Given the description of an element on the screen output the (x, y) to click on. 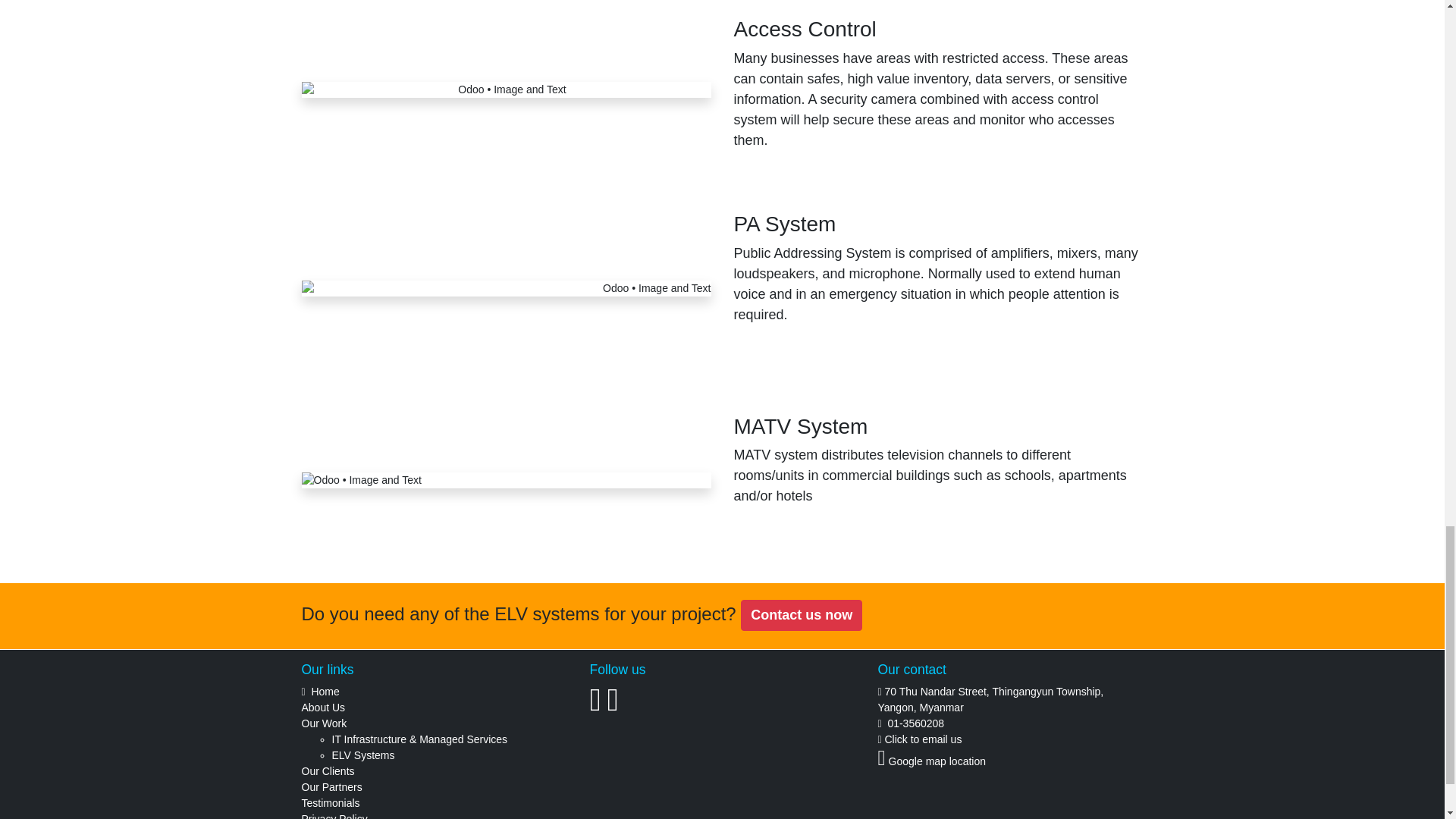
Our Clients (328, 770)
Our Partners (331, 787)
Contact us now (801, 614)
Home (325, 691)
ELV Systems (362, 755)
Testimonials (330, 802)
Click to email us (921, 739)
Google map location (936, 761)
About Us (323, 707)
Privacy Policy (334, 816)
